Given the description of an element on the screen output the (x, y) to click on. 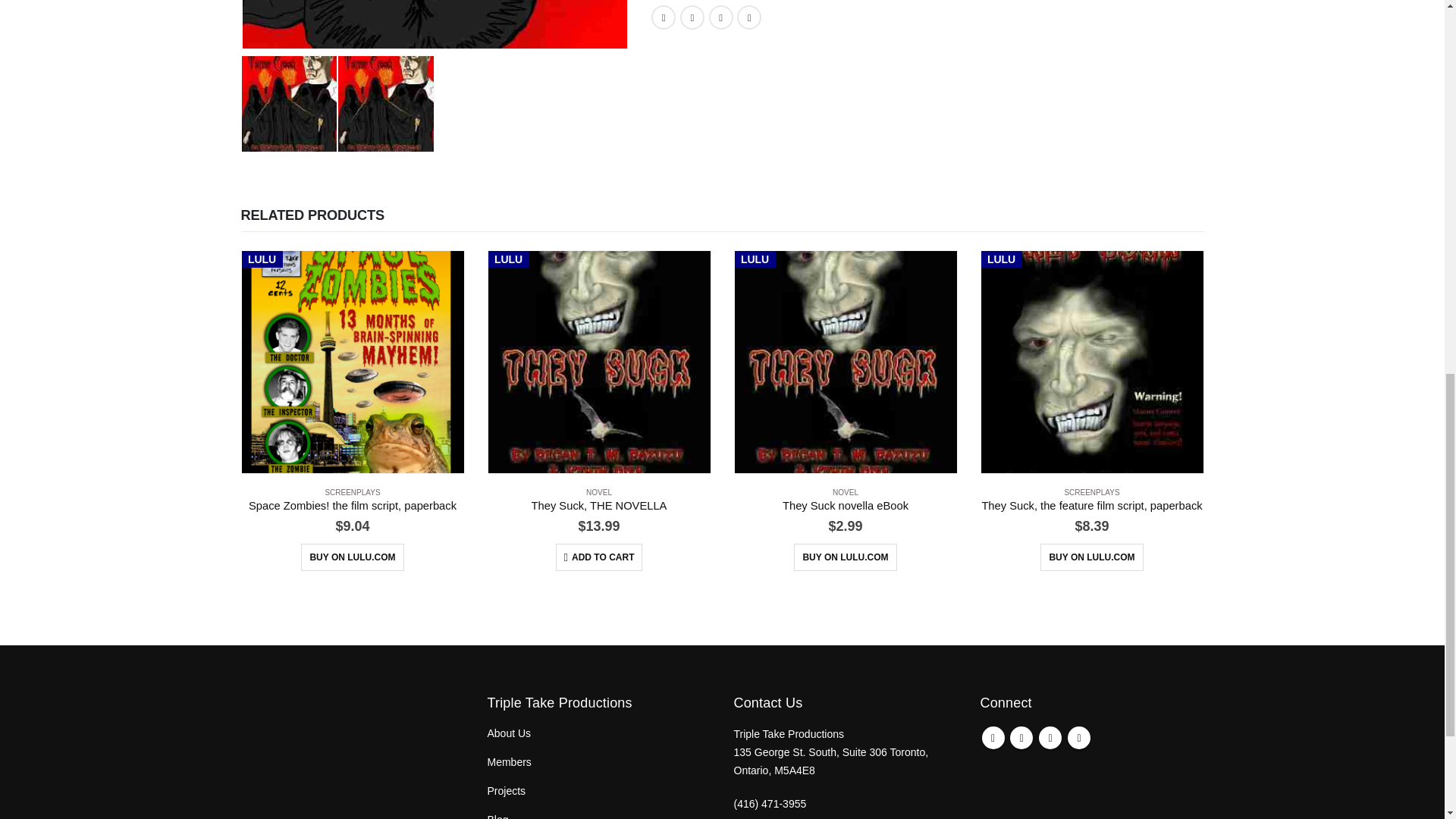
LinkedIn (721, 16)
Twitter (1021, 737)
Space Zombies! the film script, paperback (352, 506)
Email (748, 16)
BUY ON LULU.COM (352, 556)
Facebook (992, 737)
Twitter (691, 16)
Facebook (662, 16)
NOVEL (598, 492)
Facebook (662, 16)
